Given the description of an element on the screen output the (x, y) to click on. 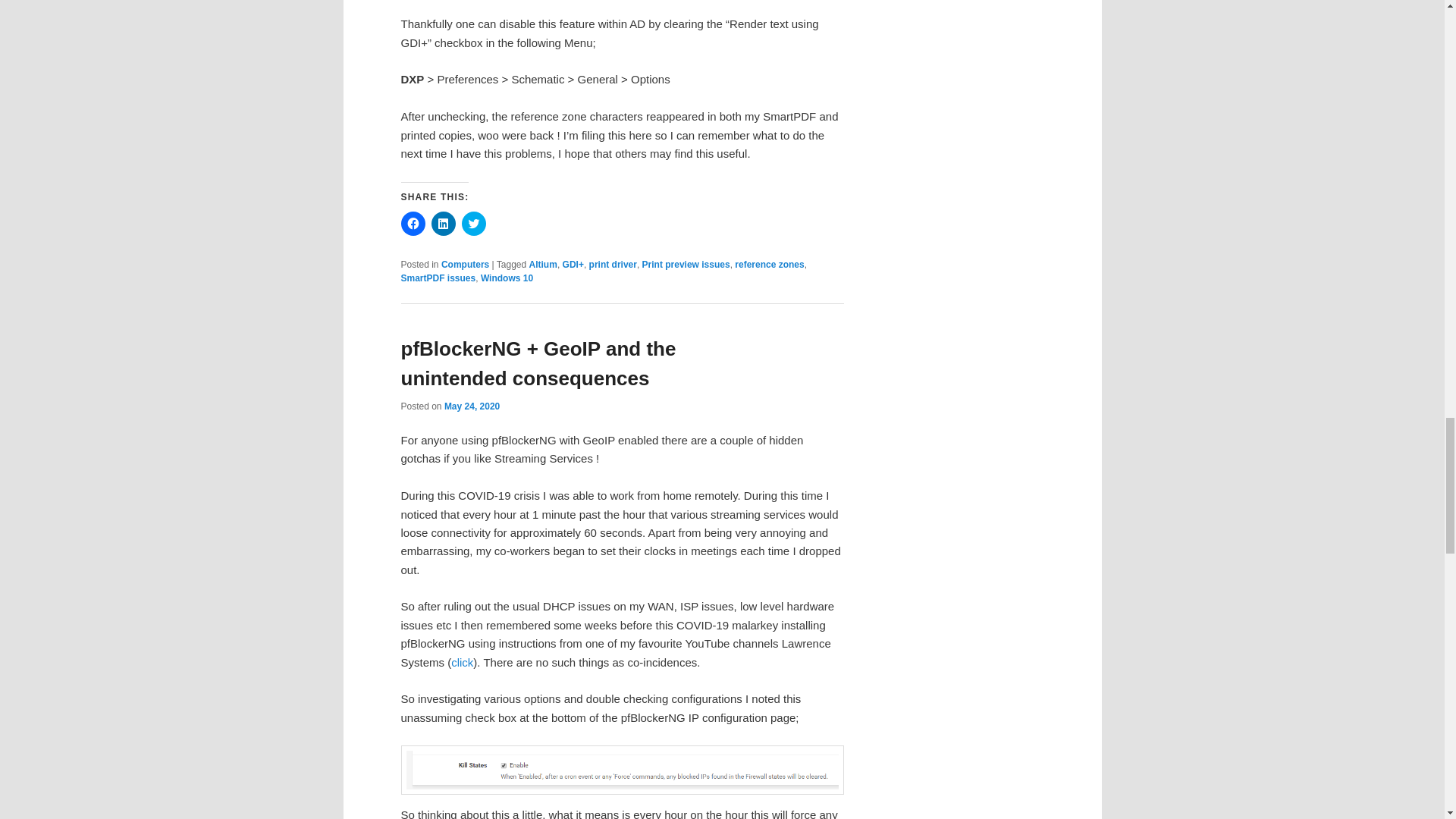
Click to share on Facebook (412, 223)
Click to share on LinkedIn (442, 223)
Click to share on Twitter (472, 223)
12:13 pm (471, 406)
